Given the description of an element on the screen output the (x, y) to click on. 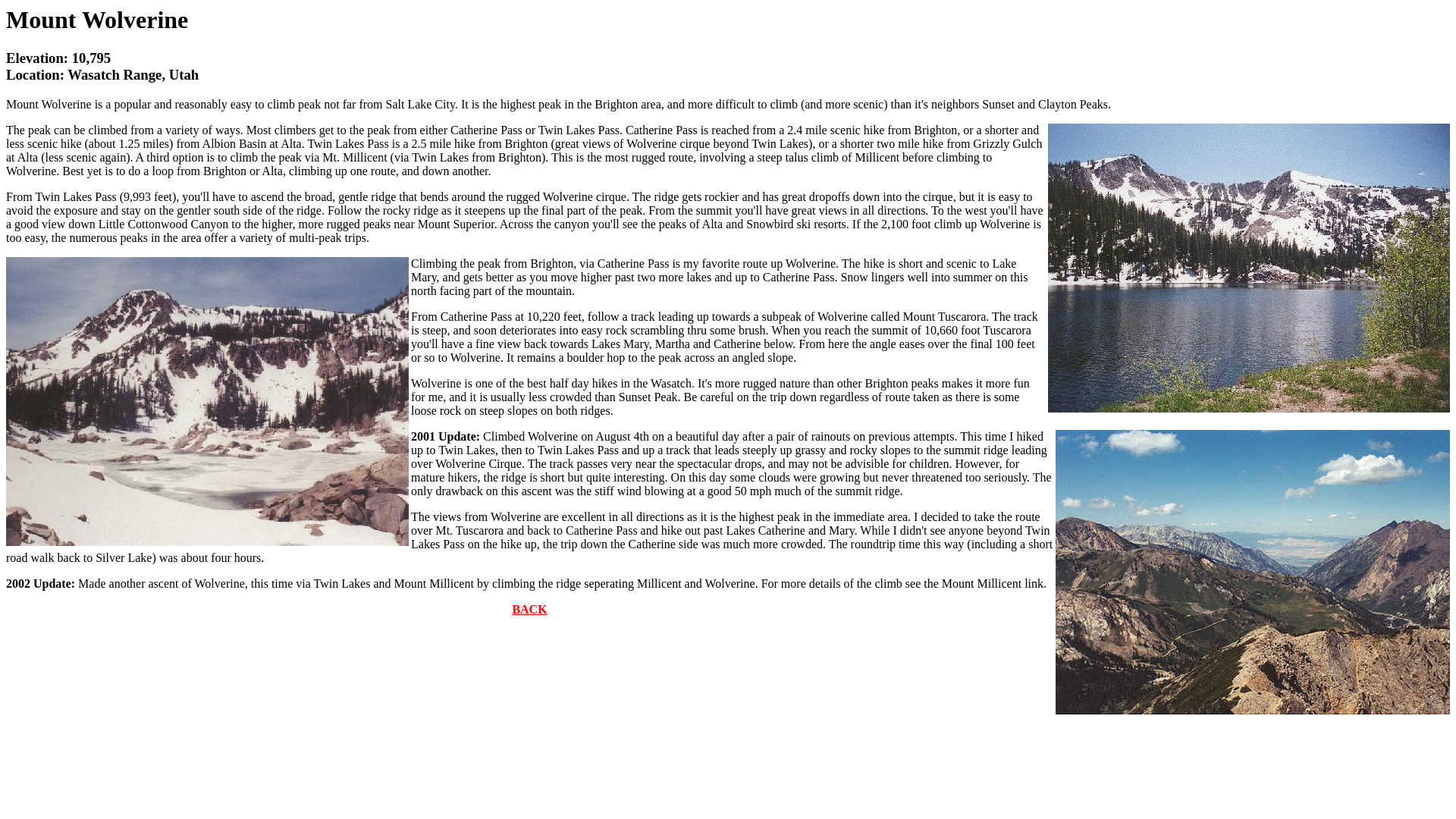
BACK Element type: text (528, 608)
